Given the description of an element on the screen output the (x, y) to click on. 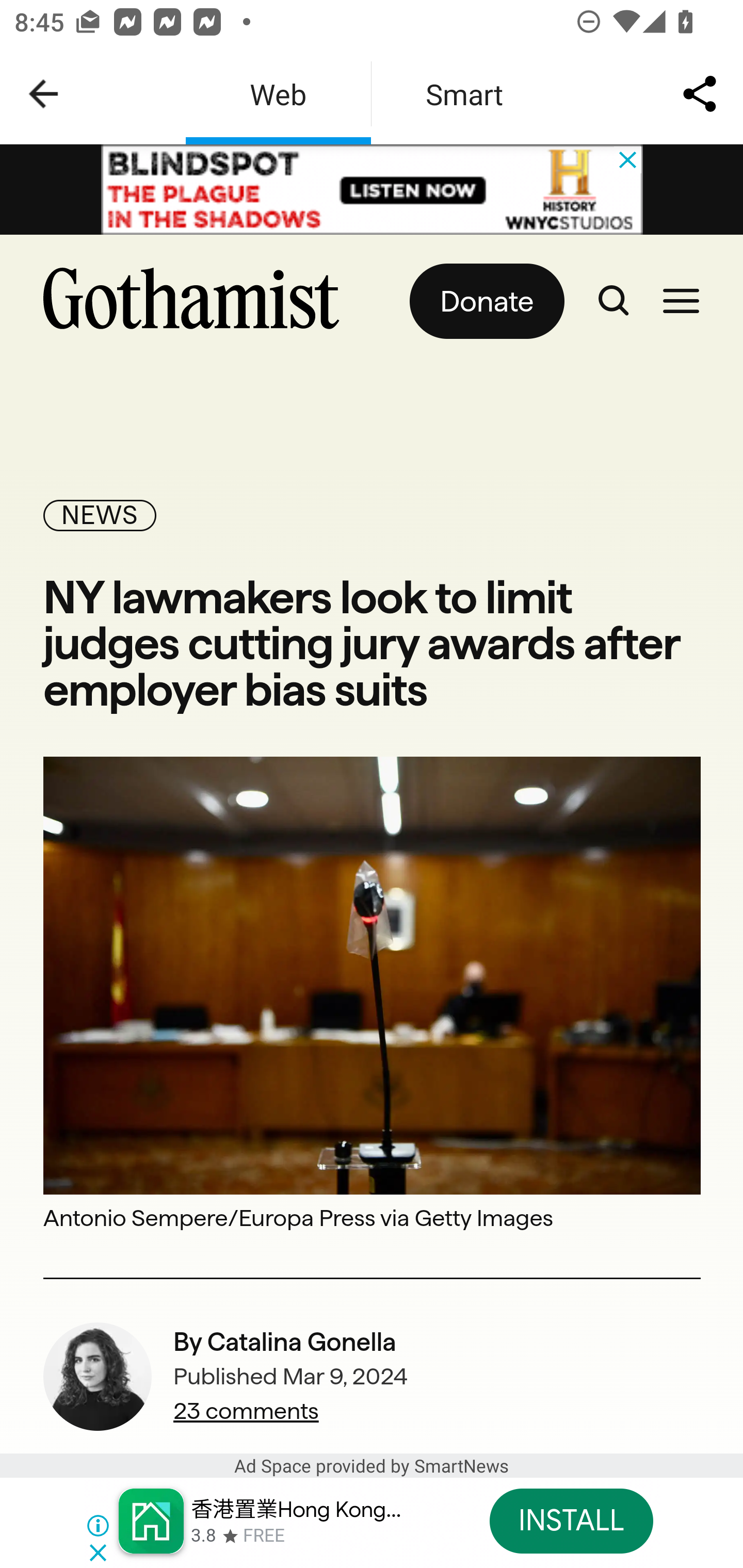
Web (277, 93)
Smart (464, 93)
blindspotpodcast%3Fsid%3Dbanner (372, 190)
Donate (485, 300)
Gothamist (199, 300)
Go to search page (612, 300)
Open the navigation menu (681, 300)
NEWS (99, 514)
A microphone in a courtroom. (372, 974)
Antonio Sempere/Europa Press via Getty Images (372, 1217)
23 comments (291, 1410)
INSTALL (570, 1520)
香港置業Hong Kong… (295, 1509)
